Given the description of an element on the screen output the (x, y) to click on. 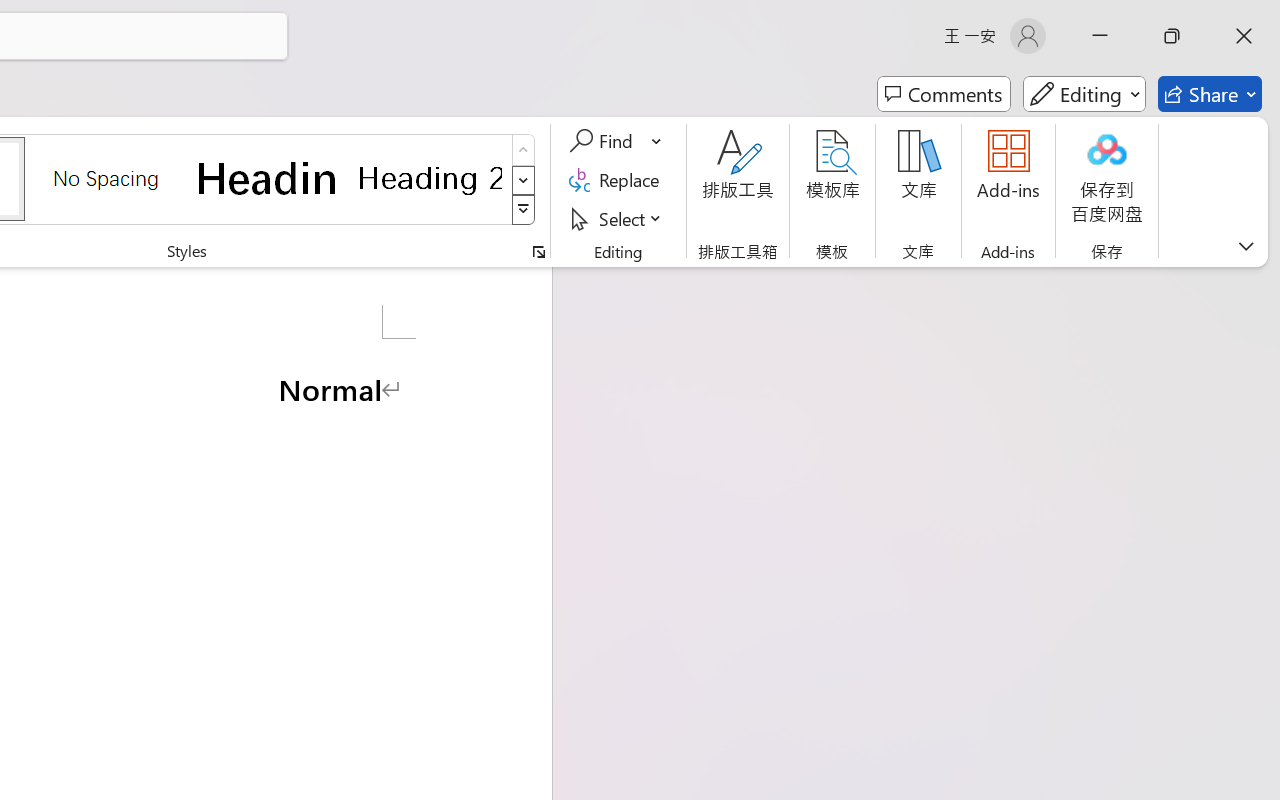
Select (618, 218)
Row up (523, 150)
Styles (523, 209)
Row Down (523, 180)
Styles... (538, 252)
